Given the description of an element on the screen output the (x, y) to click on. 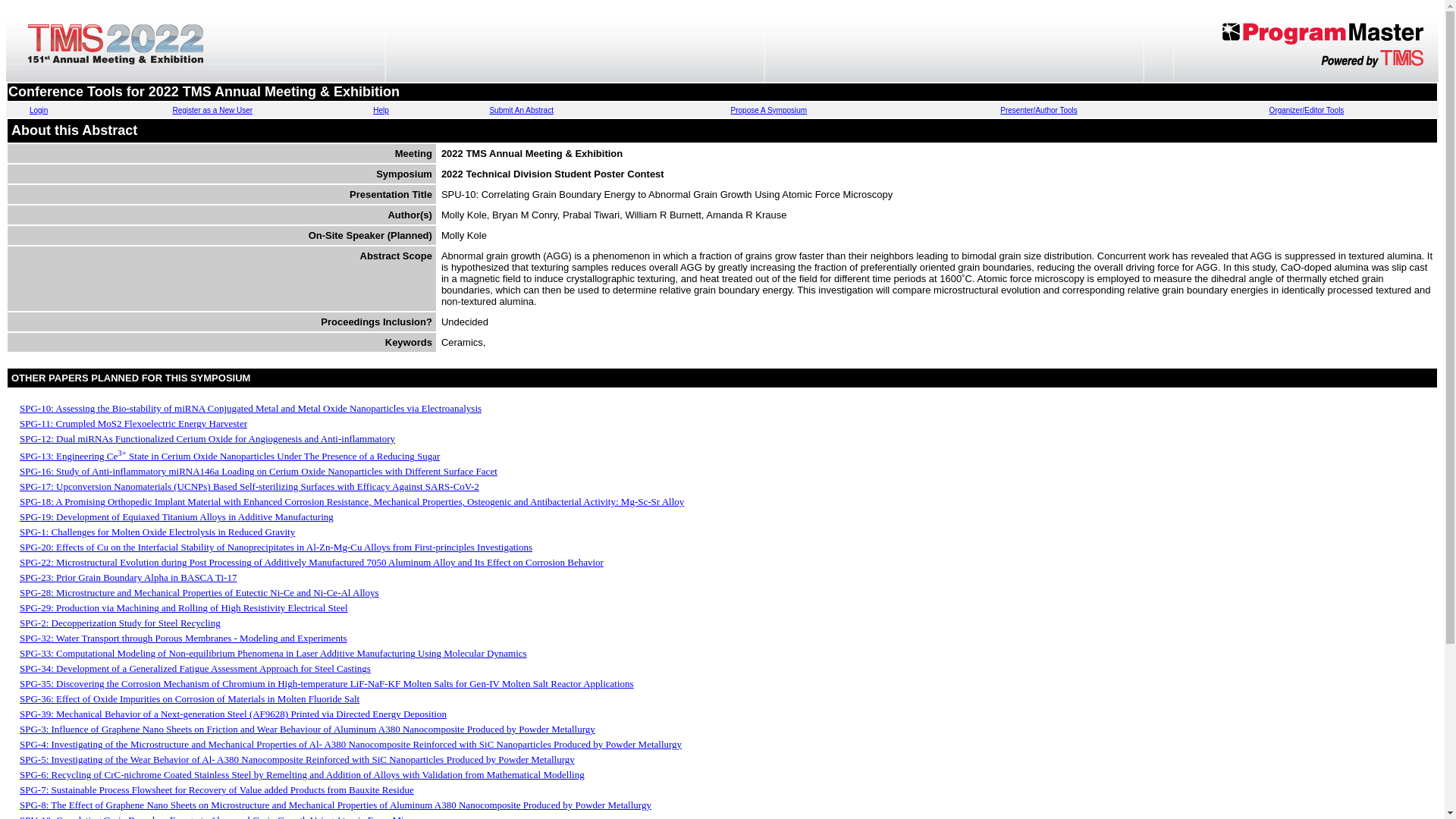
Propose A Symposium (769, 110)
SPG-23: Prior Grain Boundary Alpha in BASCA Ti-17 (127, 577)
Submit An Abstract (521, 110)
SPG-11: Crumpled MoS2 Flexoelectric Energy Harvester (133, 423)
